Given the description of an element on the screen output the (x, y) to click on. 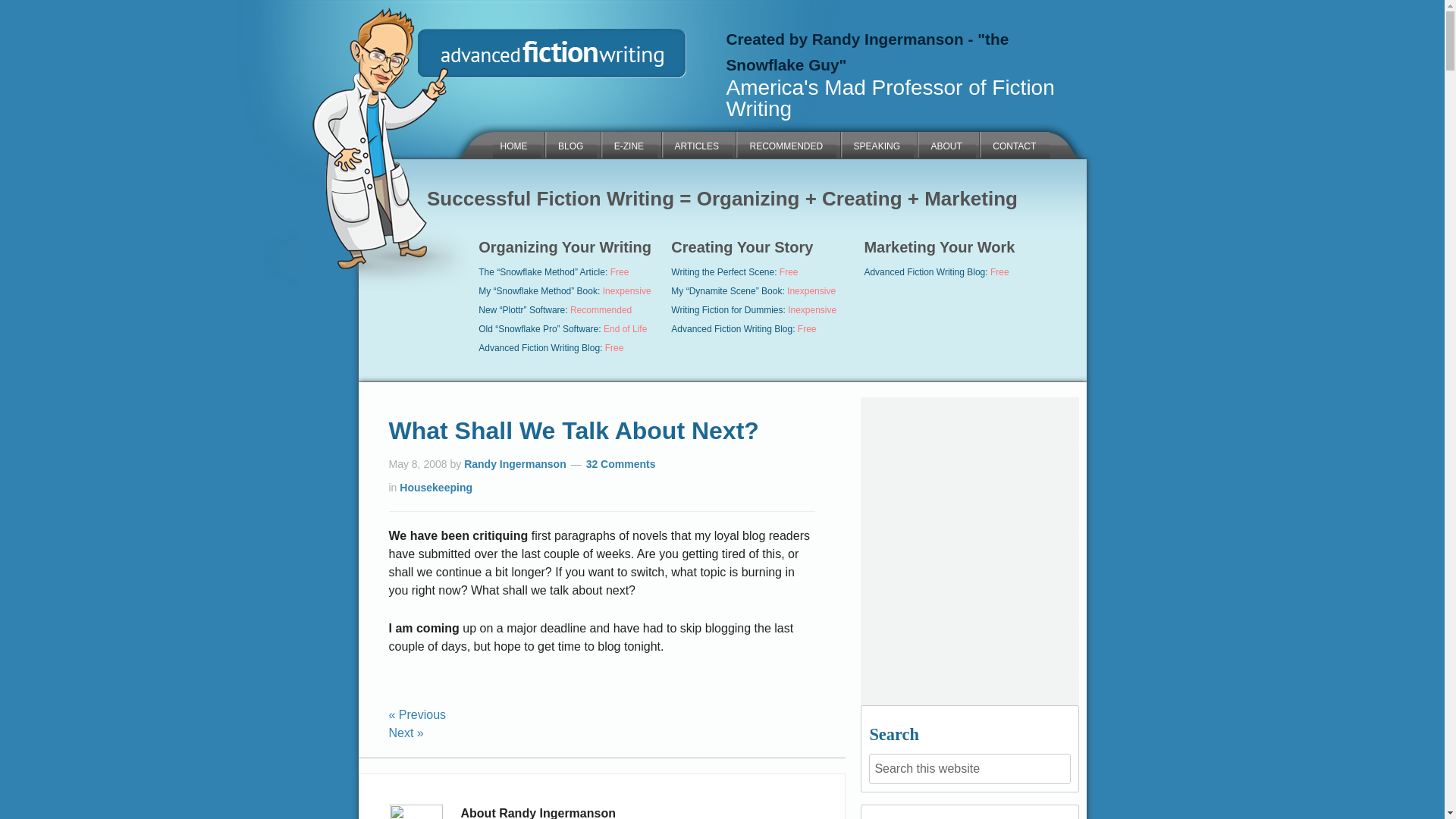
Writing the Perfect Scene: Free (734, 271)
HOME (517, 144)
BLOG (570, 144)
RECOMMENDED (785, 144)
ABOUT (946, 144)
SPEAKING (877, 144)
CONTACT (1013, 144)
E-ZINE (628, 144)
ARTICLES (696, 144)
Advanced Fiction Writing Blog: Free (551, 347)
